Given the description of an element on the screen output the (x, y) to click on. 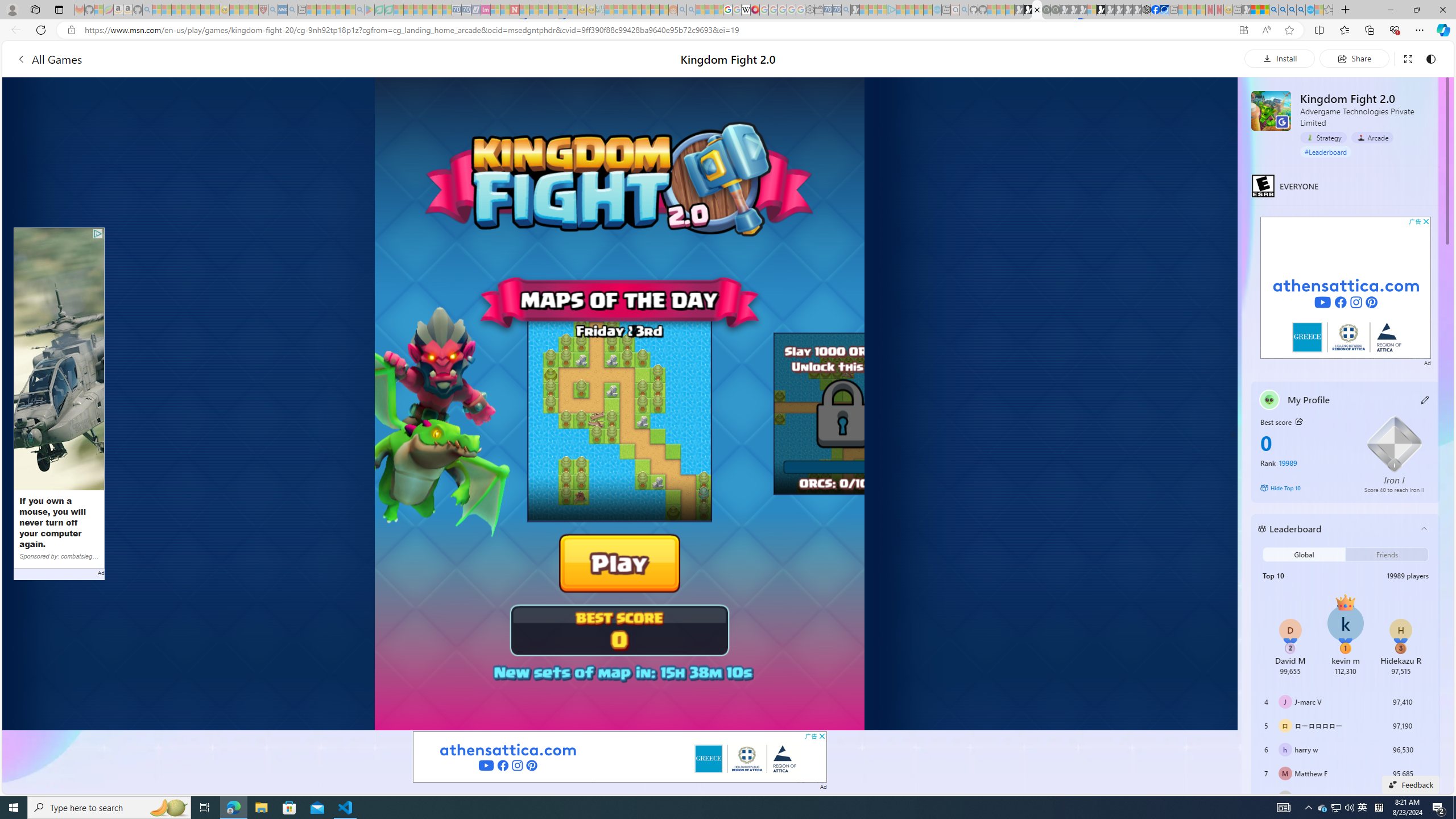
MSNBC - MSN - Sleeping (608, 9)
Strategy (1323, 137)
Full screen (1407, 58)
Services - Maintenance | Sky Blue Bikes - Sky Blue Bikes (1309, 9)
Latest Politics News & Archive | Newsweek.com - Sleeping (514, 9)
utah sues federal government - Search - Sleeping (291, 9)
14 Common Myths Debunked By Scientific Facts - Sleeping (533, 9)
Kinda Frugal - MSN - Sleeping (645, 9)
